Given the description of an element on the screen output the (x, y) to click on. 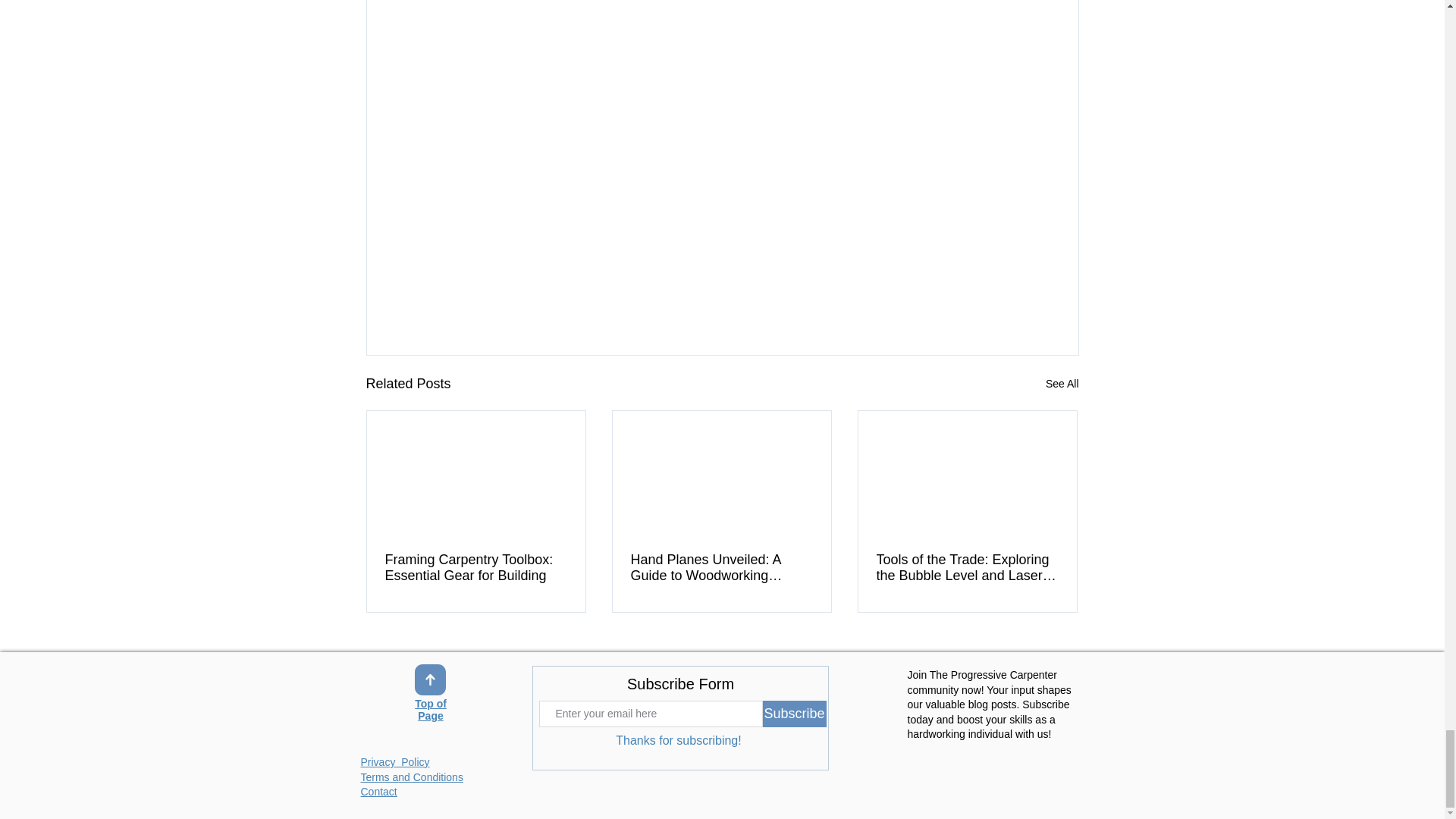
Contact (379, 791)
Hand Planes Unveiled: A Guide to Woodworking Essentials (721, 567)
Terms and Conditions (412, 776)
See All (1061, 383)
Top of Page (430, 711)
Framing Carpentry Toolbox: Essential Gear for Building (476, 567)
Subscribe (794, 714)
Privacy  Policy (395, 761)
